Given the description of an element on the screen output the (x, y) to click on. 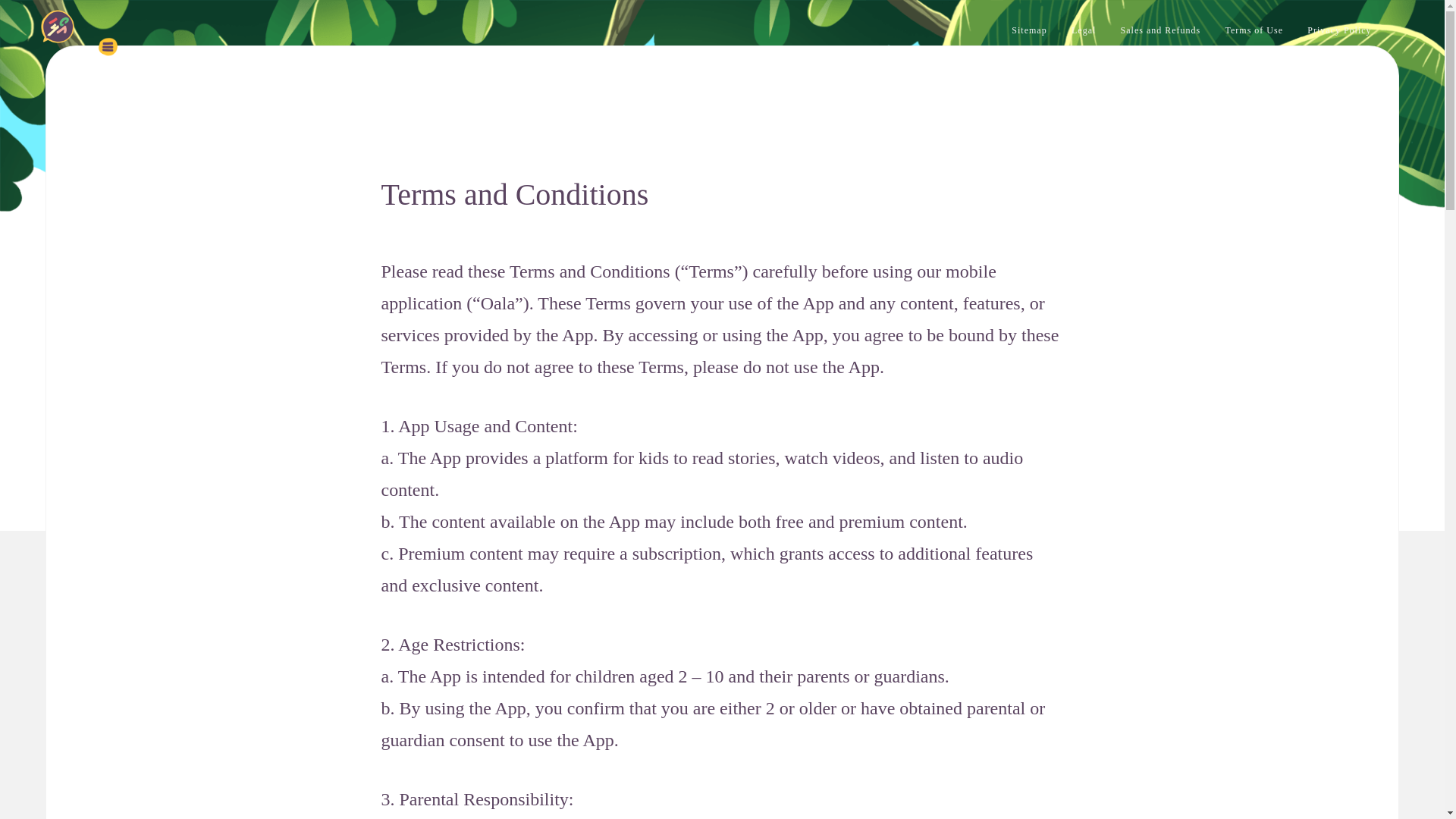
Sitemap (1028, 30)
Terms of Use (1253, 30)
Sales and Refunds (1161, 30)
Privacy Policy (1339, 30)
Oala (16, 58)
